Given the description of an element on the screen output the (x, y) to click on. 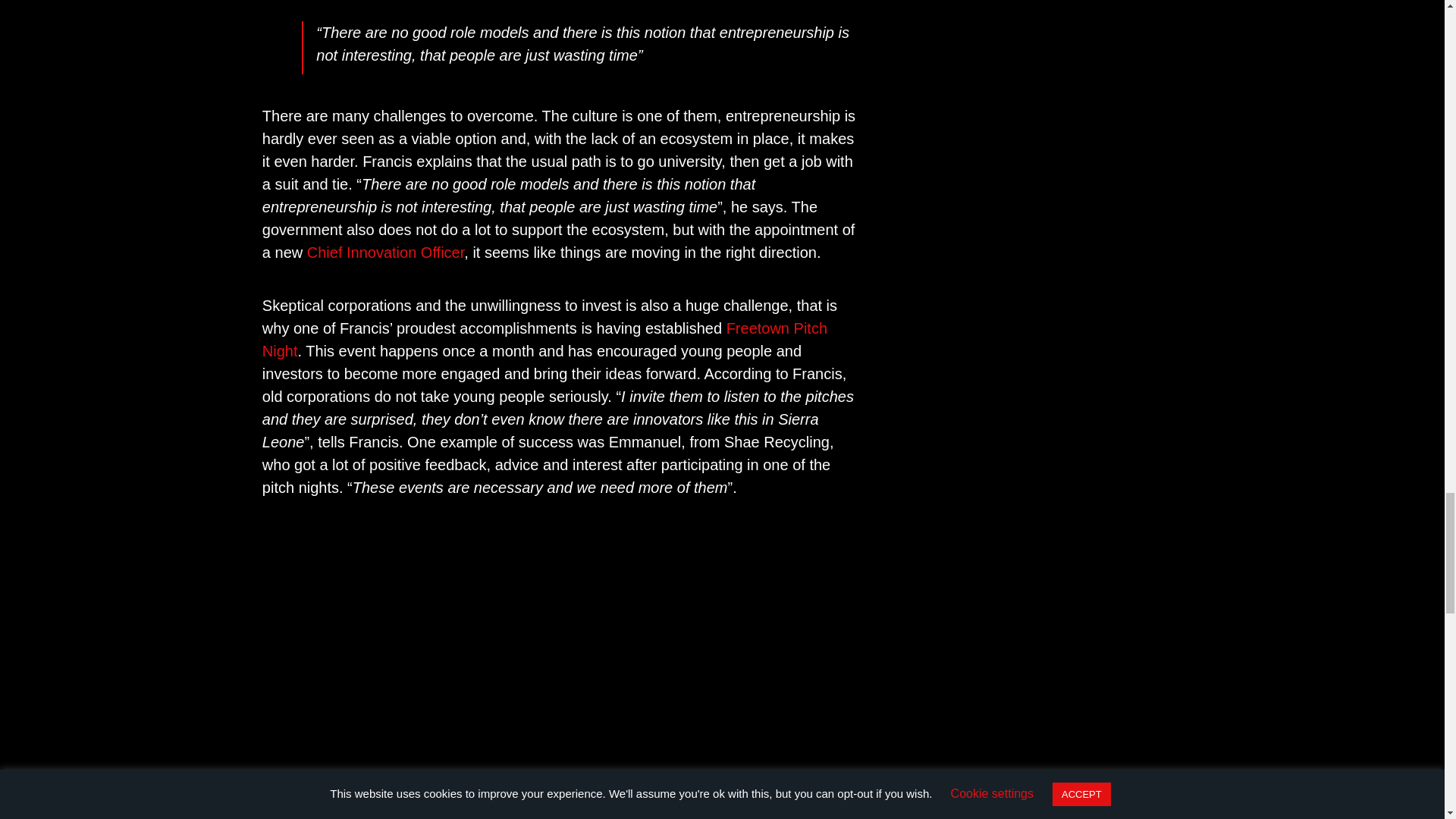
Freetown Pitch Night (544, 339)
Chief Innovation Officer (385, 252)
